Given the description of an element on the screen output the (x, y) to click on. 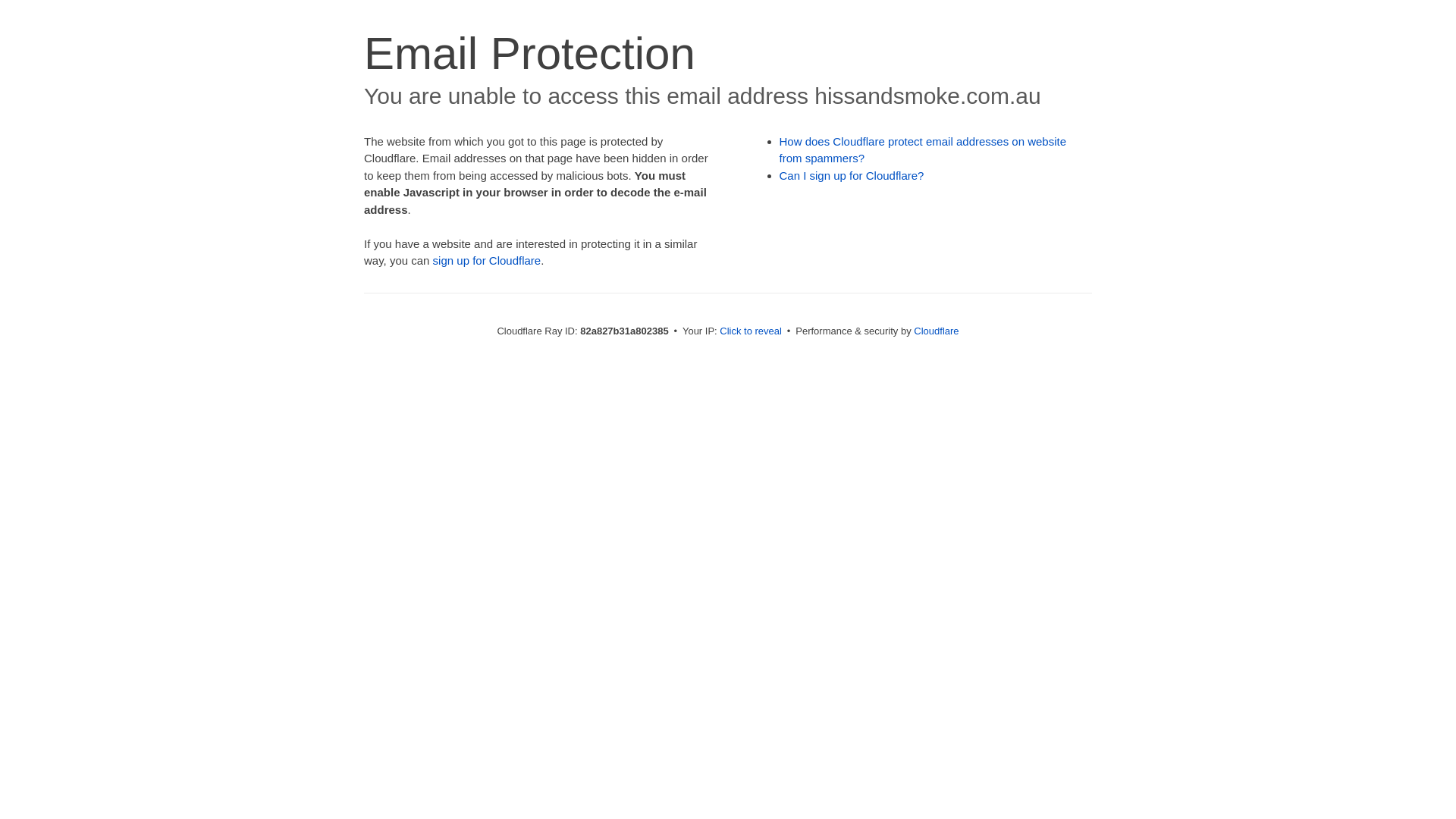
sign up for Cloudflare Element type: text (487, 260)
Can I sign up for Cloudflare? Element type: text (851, 175)
Cloudflare Element type: text (935, 330)
Click to reveal Element type: text (750, 330)
